Given the description of an element on the screen output the (x, y) to click on. 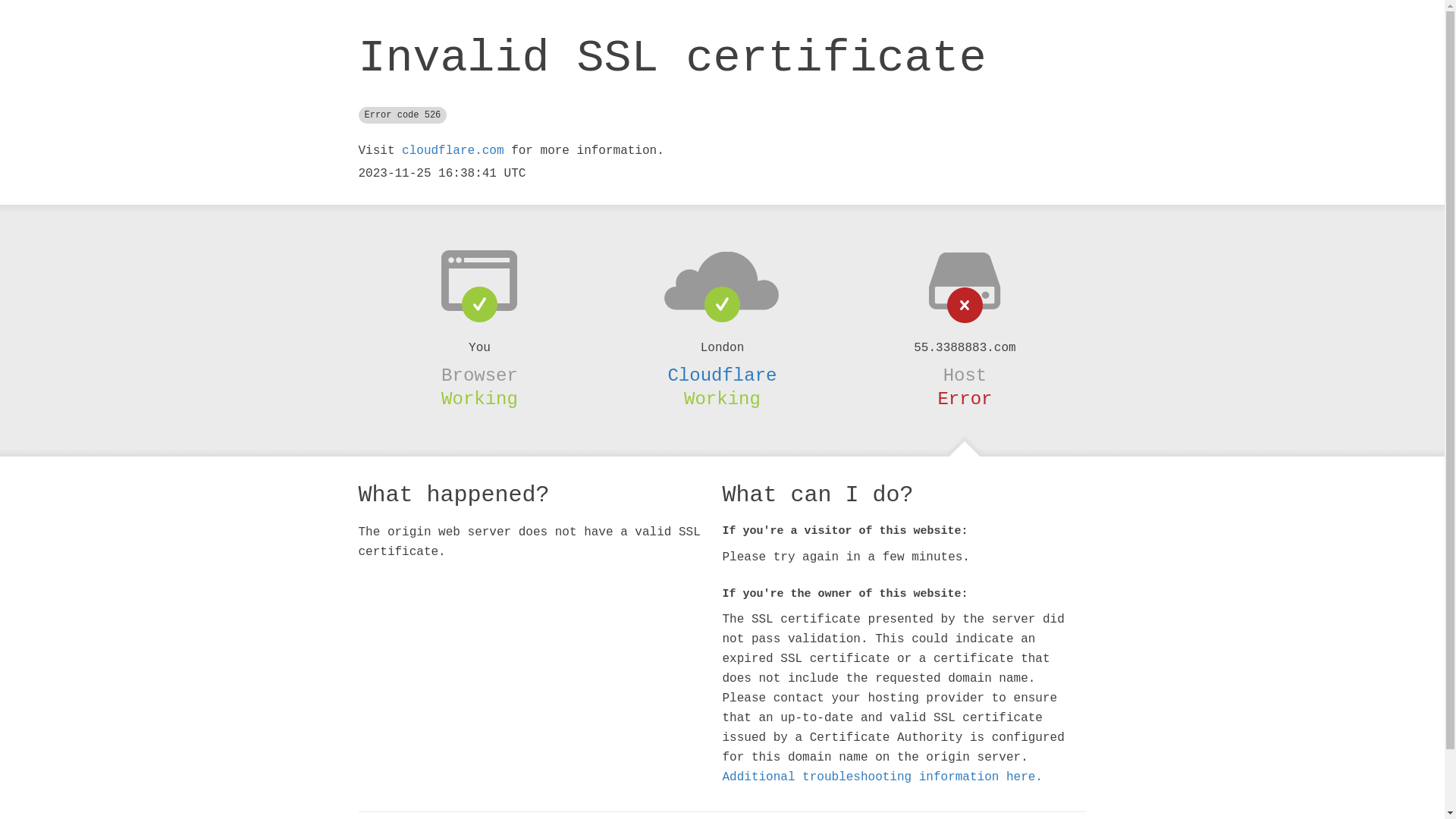
Cloudflare Element type: text (721, 375)
cloudflare.com Element type: text (452, 150)
Additional troubleshooting information here. Element type: text (881, 777)
